Given the description of an element on the screen output the (x, y) to click on. 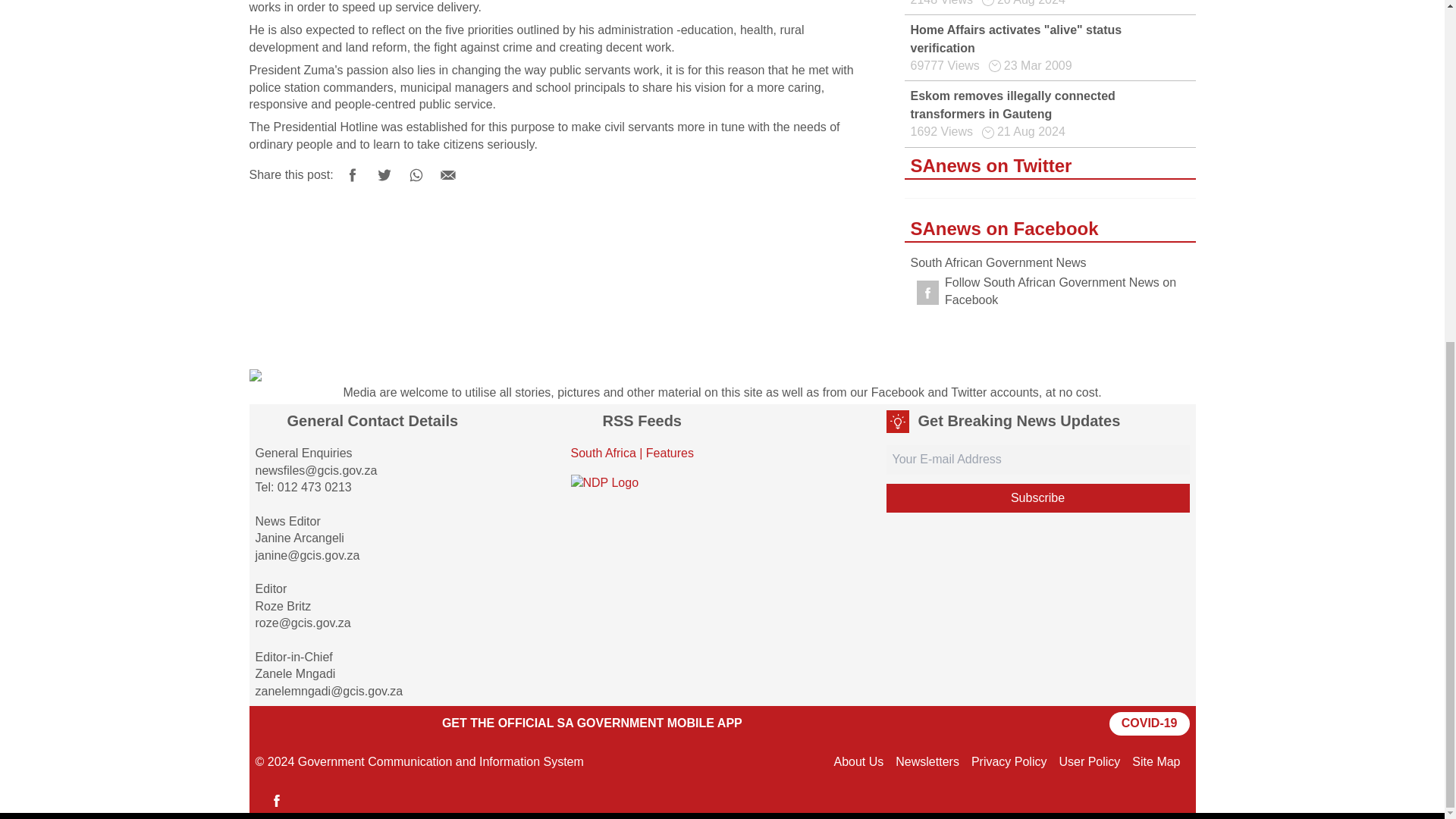
South African Government News (998, 262)
Share by Email (448, 174)
Subscribe (1037, 498)
Subscribe (1037, 498)
Share on WhatsApp (416, 174)
Eskom removes illegally connected transformers in Gauteng (1012, 104)
Follow South African Government News on Facebook (1049, 291)
Download from the Google Play Store (292, 722)
Download from the iTunes App Store (381, 722)
Home Affairs activates "alive" status verification (1015, 38)
